Given the description of an element on the screen output the (x, y) to click on. 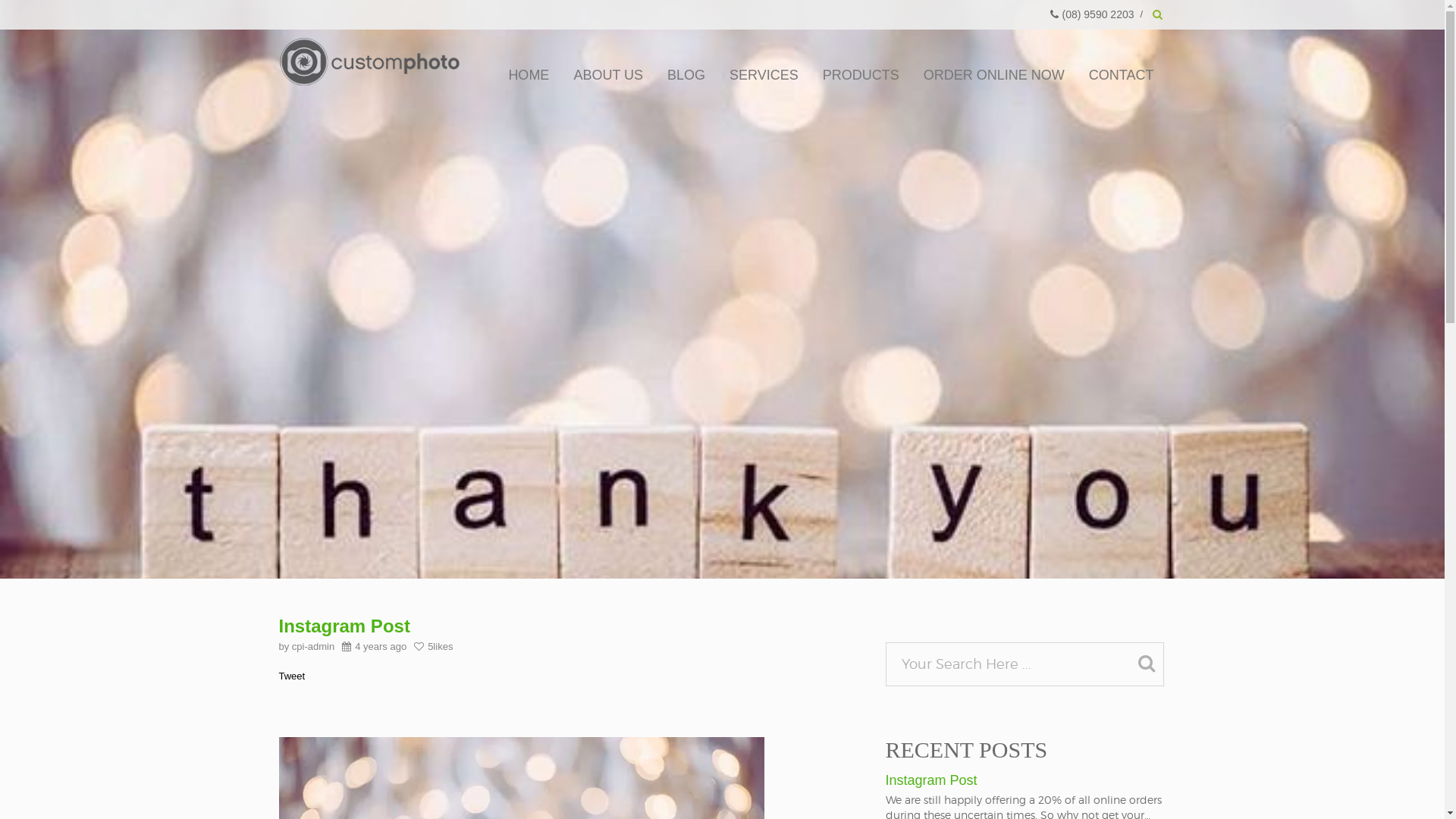
Instagram Post Element type: text (1025, 777)
SERVICES Element type: text (763, 74)
ORDER ONLINE NOW Element type: text (993, 74)
Tweet Element type: text (292, 676)
PRODUCTS Element type: text (860, 74)
ABOUT US Element type: text (608, 74)
HOME Element type: text (528, 74)
BLOG Element type: text (686, 74)
(08) 9590 2203 Element type: text (1092, 13)
cpi-admin Element type: text (312, 646)
CONTACT Element type: text (1121, 74)
